Given the description of an element on the screen output the (x, y) to click on. 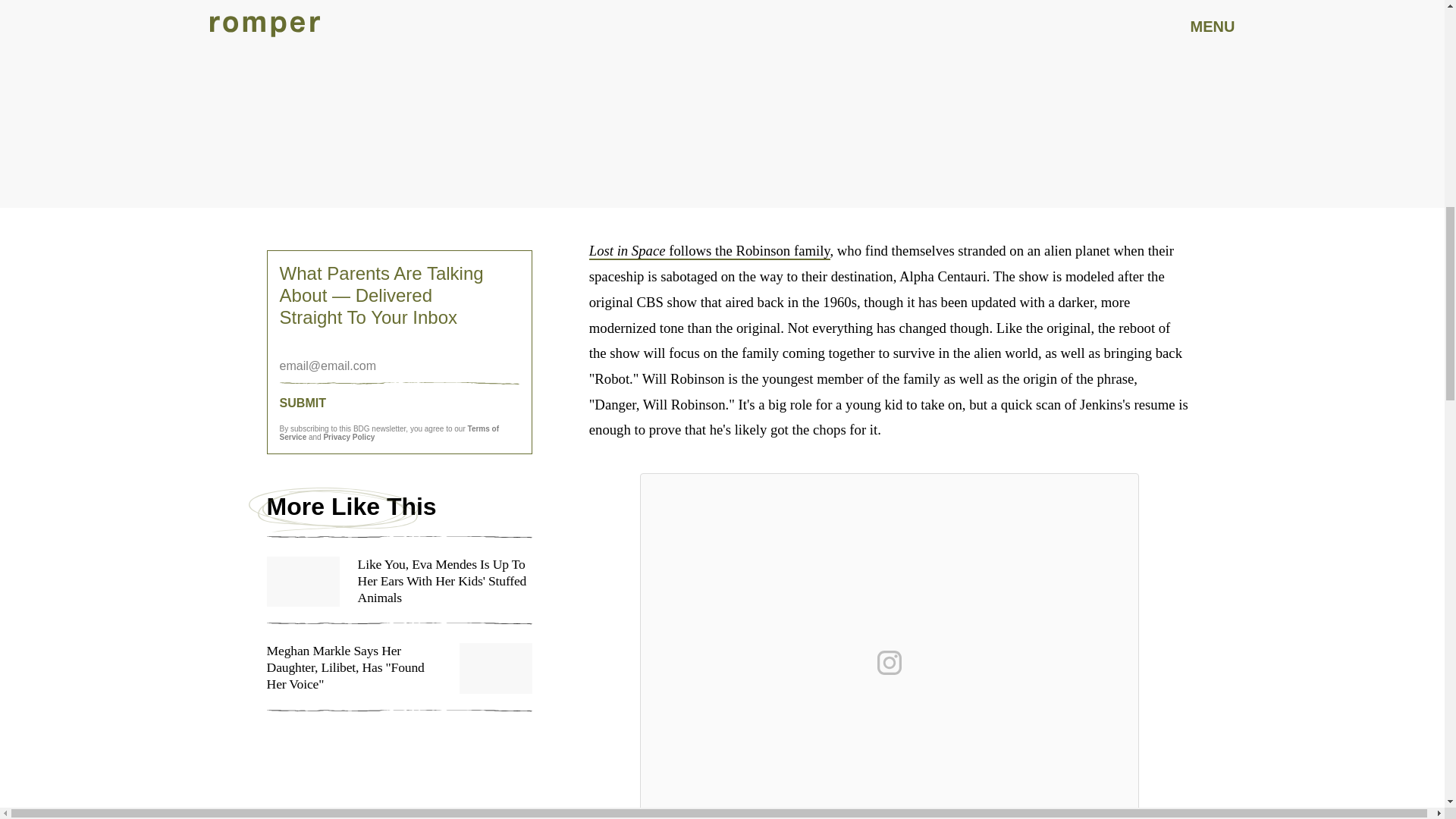
View on Instagram (888, 662)
Lost in Space follows the Robinson family (709, 251)
SUBMIT (399, 403)
Privacy Policy (348, 437)
Terms of Service (389, 433)
